Given the description of an element on the screen output the (x, y) to click on. 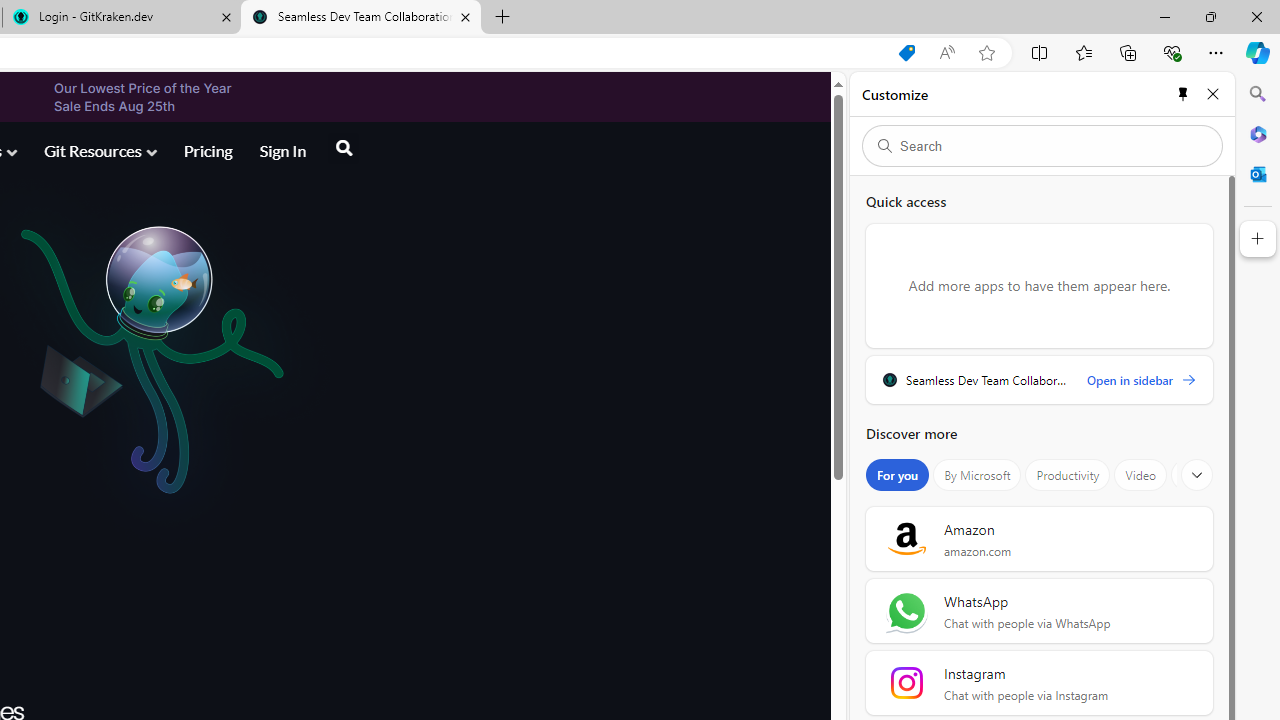
For you (898, 475)
Seamless Dev Team Collaboration with GitKraken's Tools (360, 17)
Sign In (282, 152)
